Given the description of an element on the screen output the (x, y) to click on. 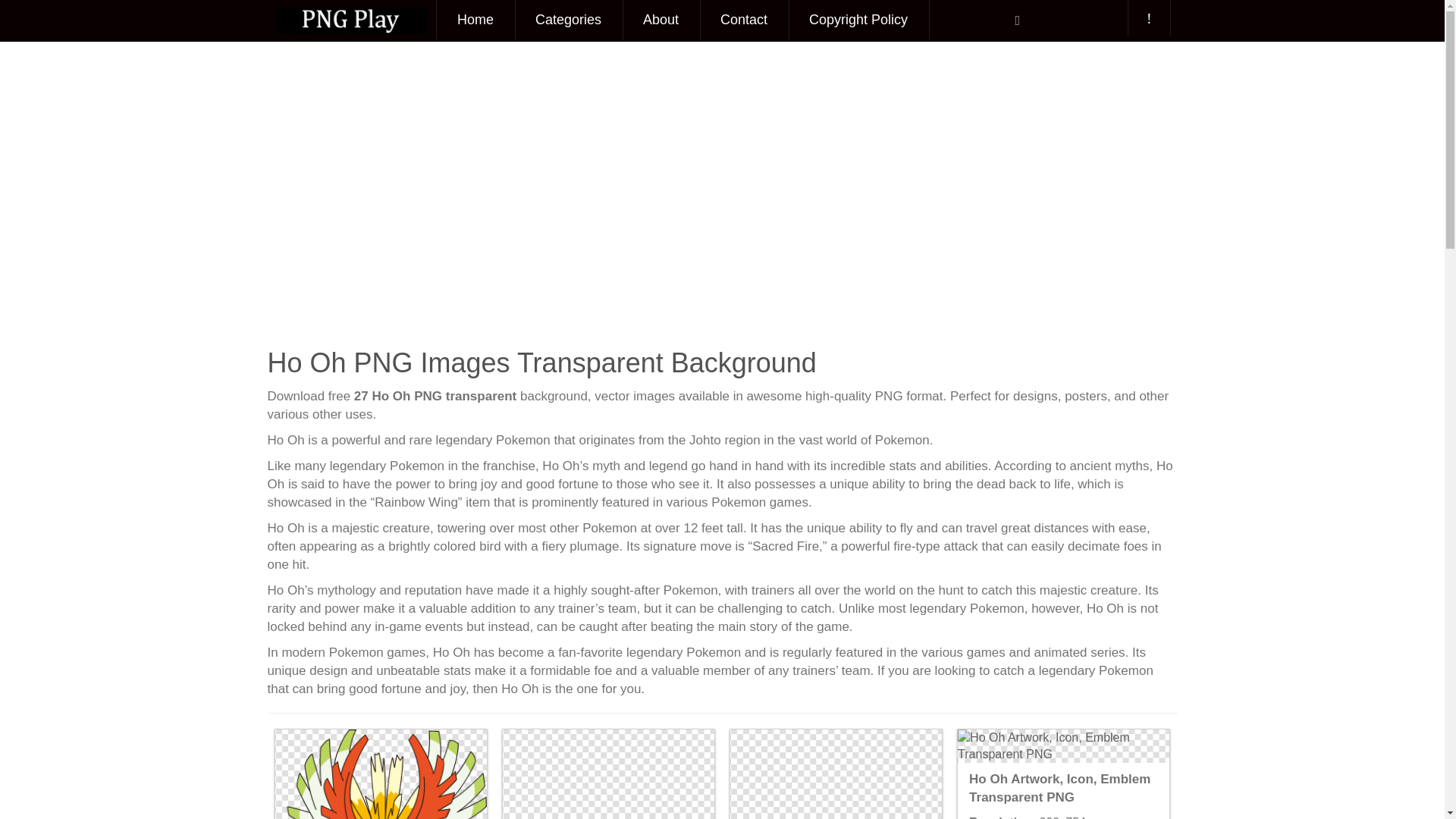
Categories (568, 19)
About (660, 19)
Ho Oh Art, Graphic Transparent PNG (380, 774)
Ho Oh Artwork, Graphic, Visual PNG Image (835, 774)
Ho Oh, Pokemon, Image PNG Image (607, 774)
Contact (743, 19)
Copyright Policy (858, 19)
Home (474, 19)
